Given the description of an element on the screen output the (x, y) to click on. 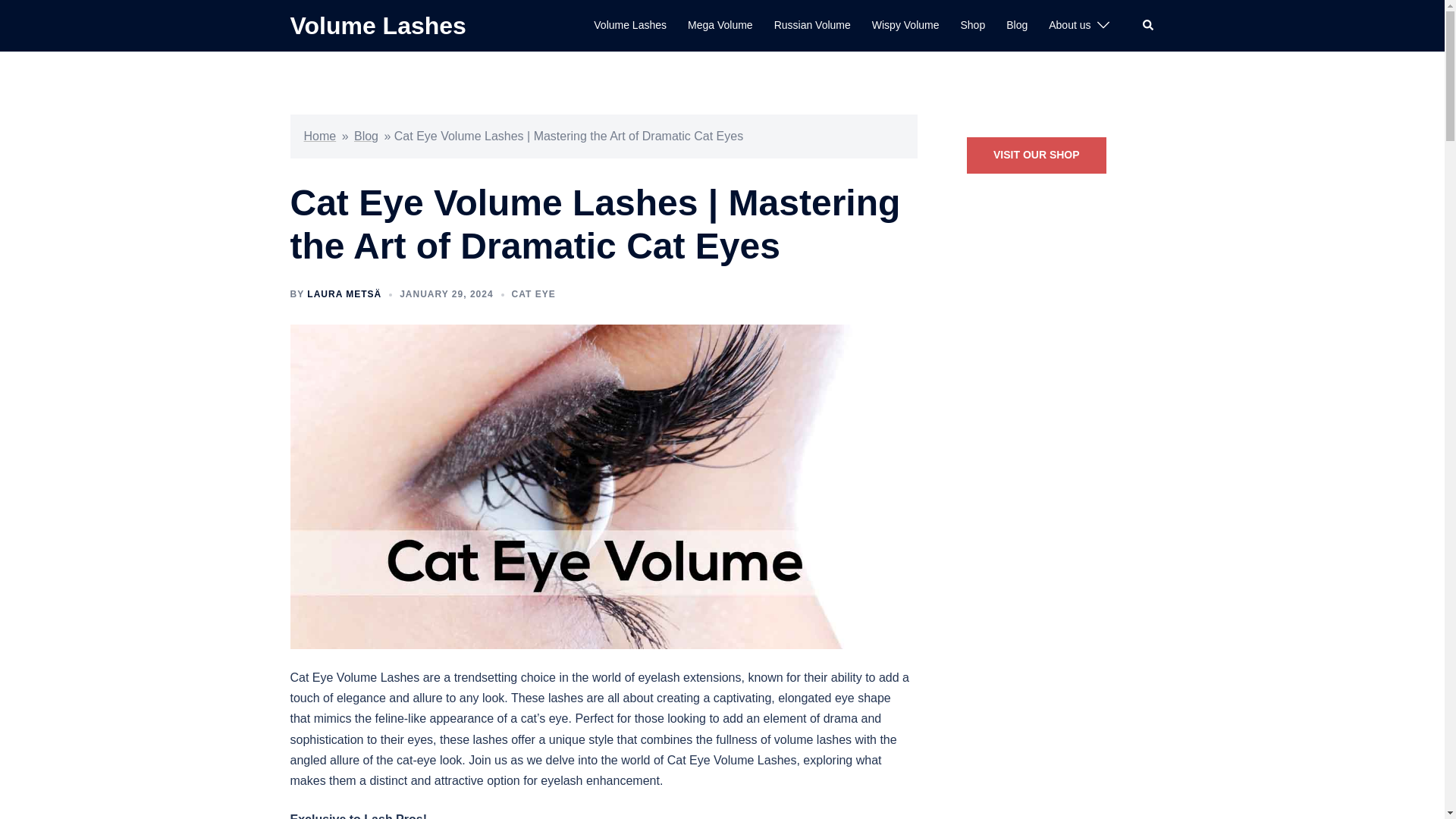
Shop (972, 25)
Volume Lashes (630, 25)
Russian Volume (812, 25)
Home (319, 135)
About us (1069, 25)
Volume Lashes (377, 25)
Search (1147, 25)
JANUARY 29, 2024 (445, 294)
Mega Volume (719, 25)
Wispy Volume (905, 25)
CAT EYE (534, 294)
Blog (365, 135)
Blog (1016, 25)
